Given the description of an element on the screen output the (x, y) to click on. 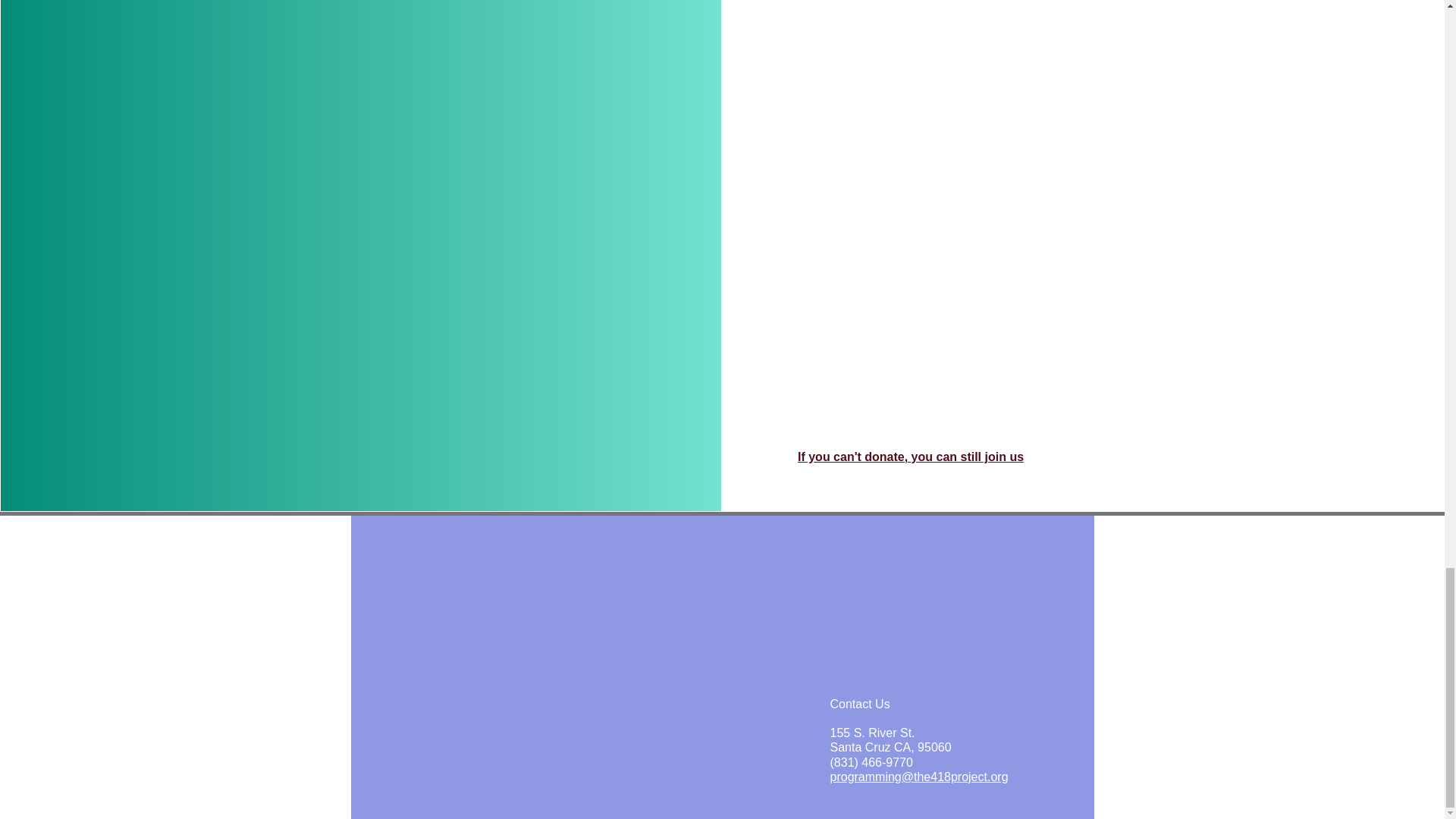
If you can't donate, you can still join us (889, 739)
